Given the description of an element on the screen output the (x, y) to click on. 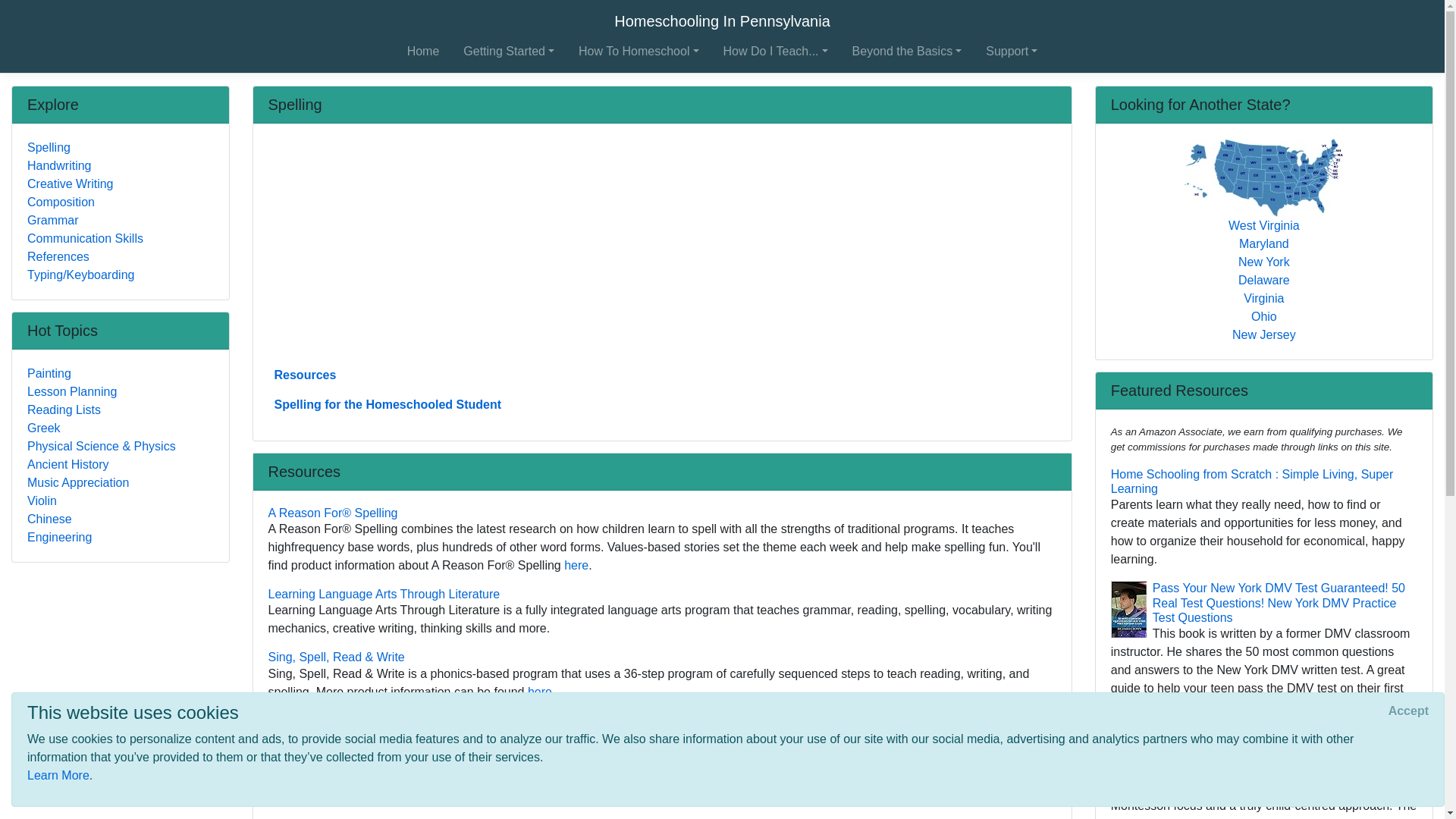
How Do I Teach... (775, 51)
Homeschooling In Pennsylvania (721, 20)
Getting Started (508, 51)
Home (423, 51)
Beyond the Basics (906, 51)
How To Homeschool (638, 51)
